Given the description of an element on the screen output the (x, y) to click on. 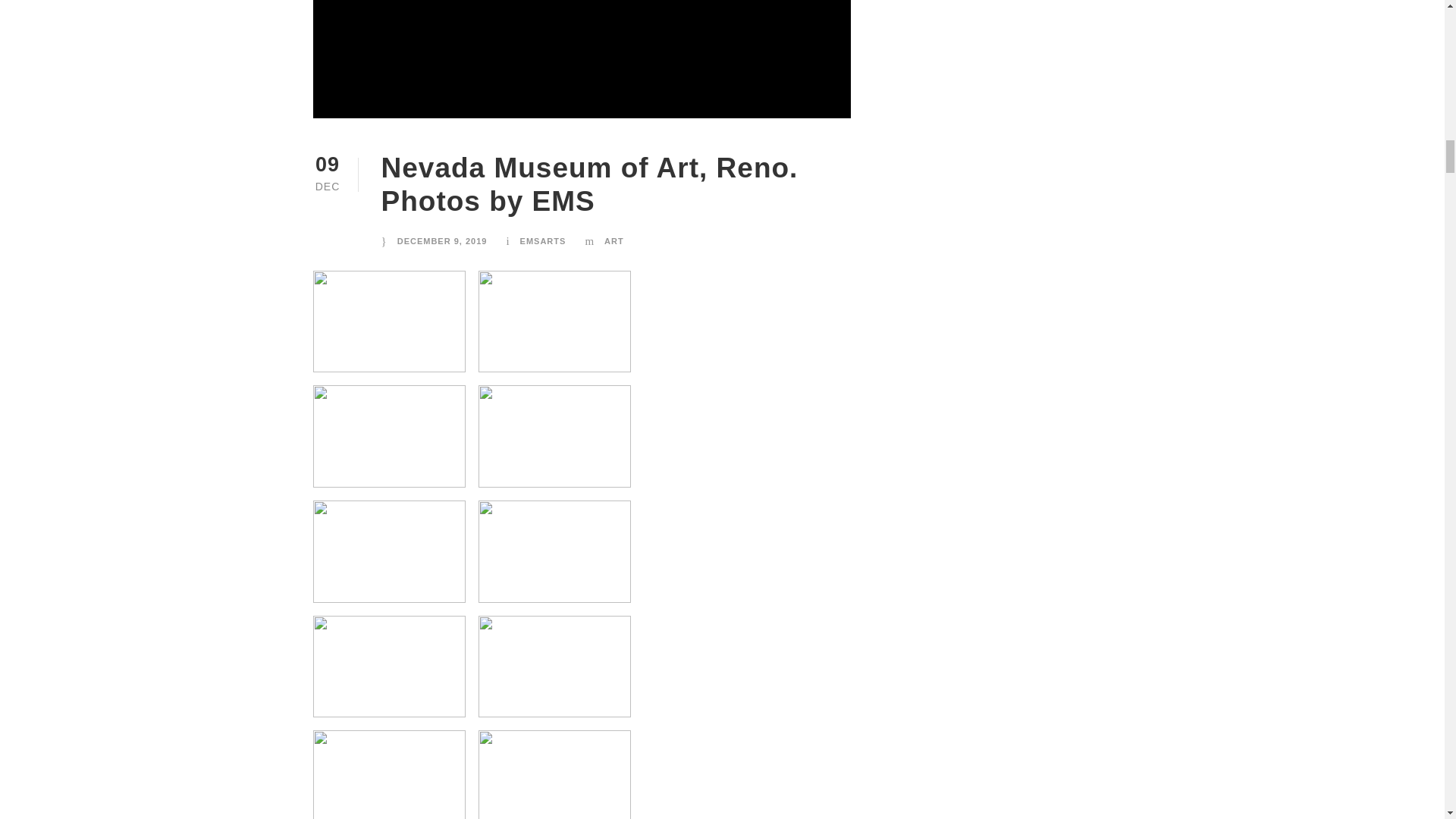
Nevada Museum of Art, Reno. Photos by EMS (588, 184)
EMSARTS (542, 240)
ART (614, 240)
DECEMBER 9, 2019 (442, 240)
Posts by emsarts (542, 240)
